Given the description of an element on the screen output the (x, y) to click on. 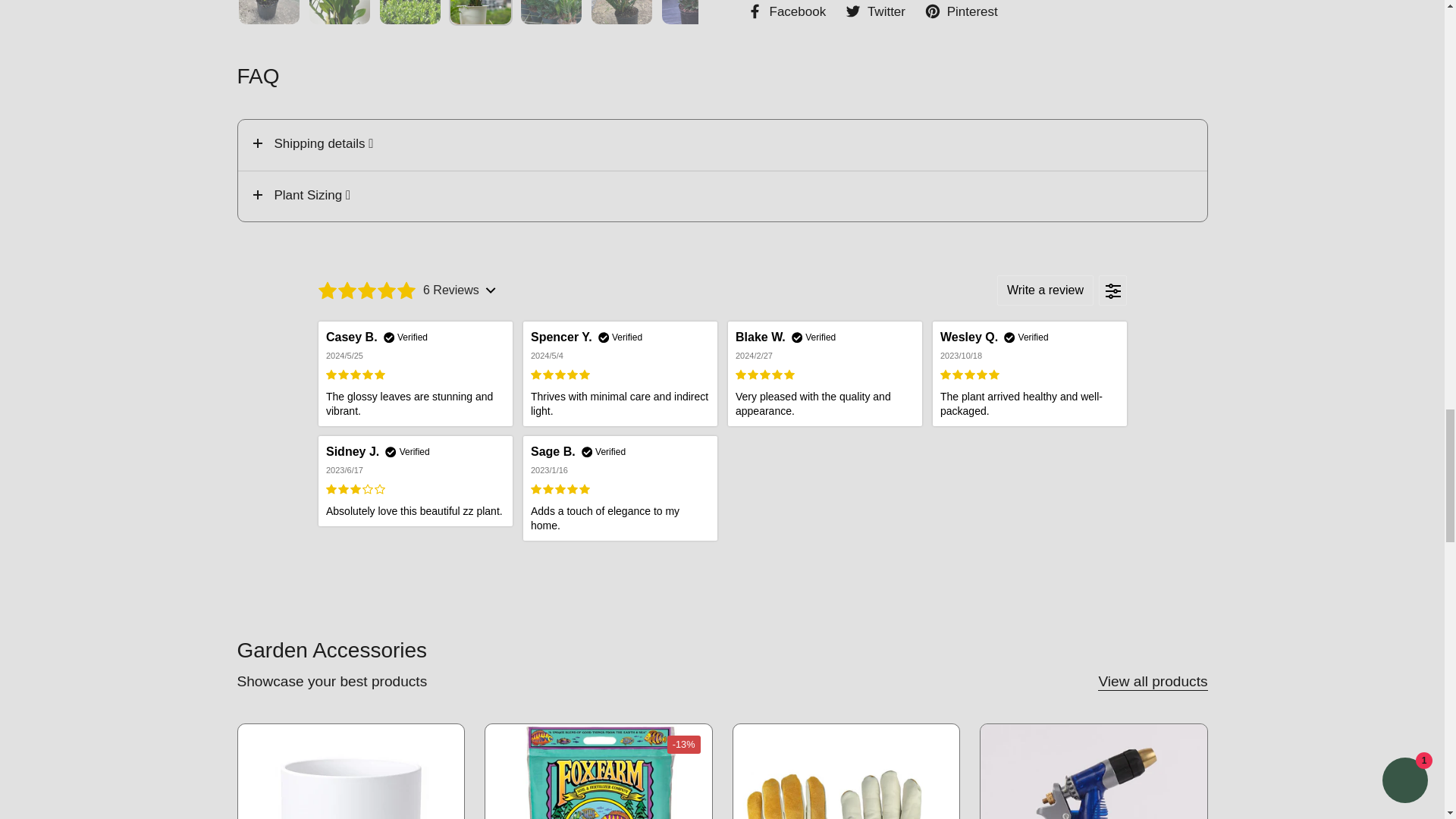
Share on pinterest (960, 12)
Share on facebook (785, 12)
Share on twitter (874, 12)
